Given the description of an element on the screen output the (x, y) to click on. 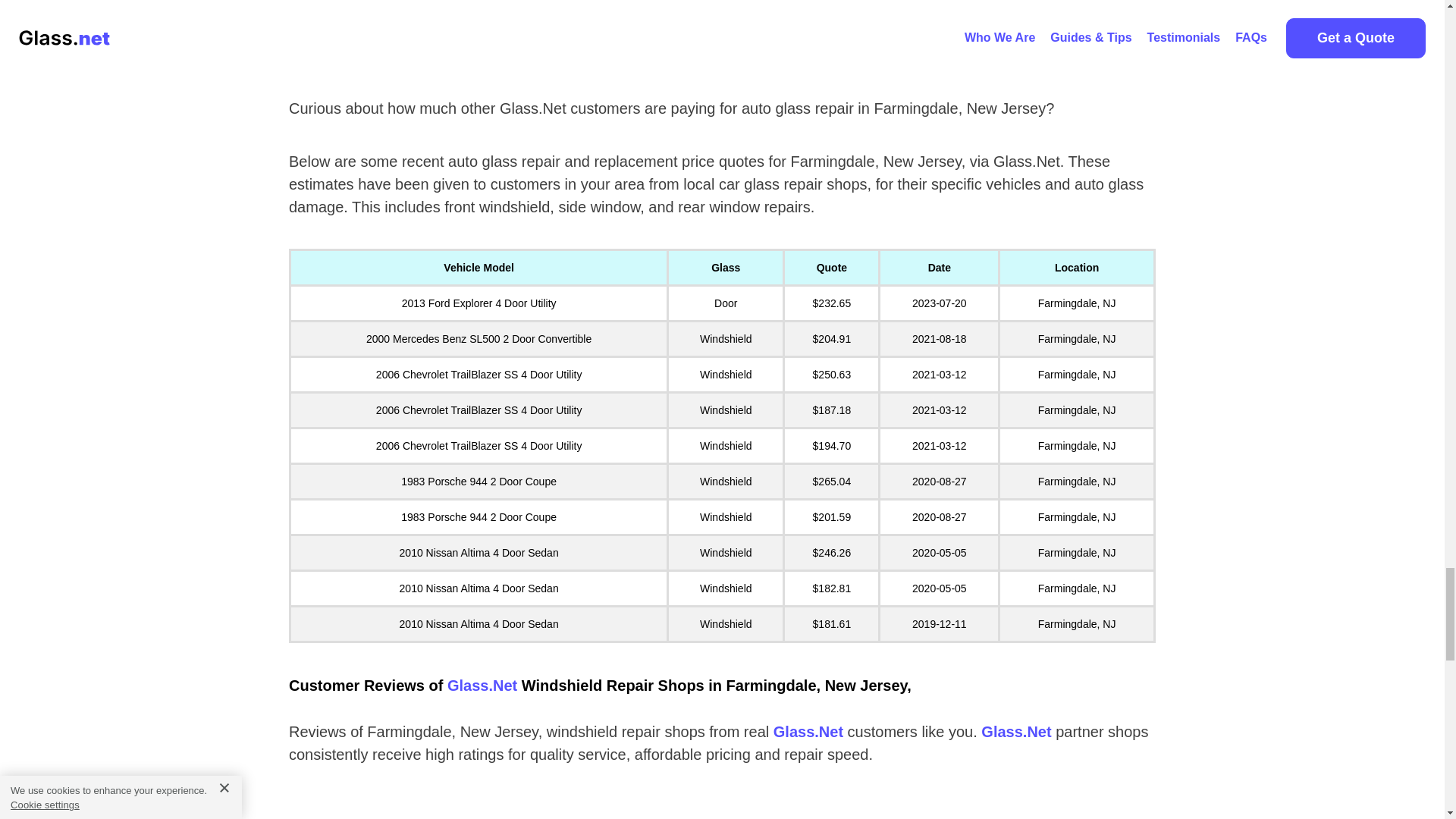
Glass.Net (808, 731)
Glass.Net (1016, 731)
Glass.Net (481, 685)
